Given the description of an element on the screen output the (x, y) to click on. 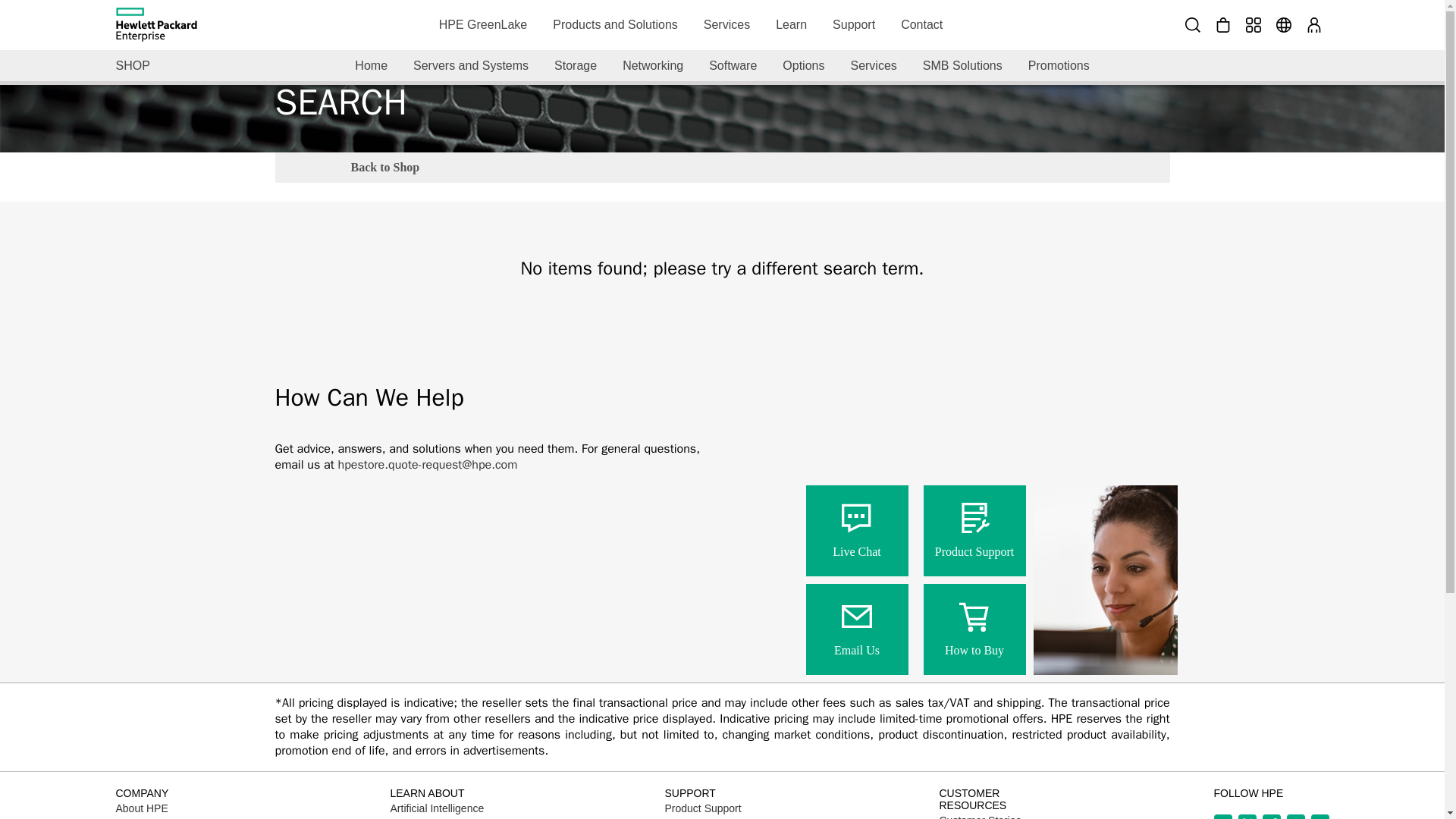
HPE GreenLake (483, 24)
Learn (791, 24)
Facebook - new window (1270, 816)
HPE RSS Feed - new window (1318, 816)
Support (853, 24)
Services (727, 24)
Hewlett Packard Enterprise (155, 24)
Products and Solutions (614, 24)
LinkedIn - new window (1221, 816)
X - new window (1246, 816)
